Given the description of an element on the screen output the (x, y) to click on. 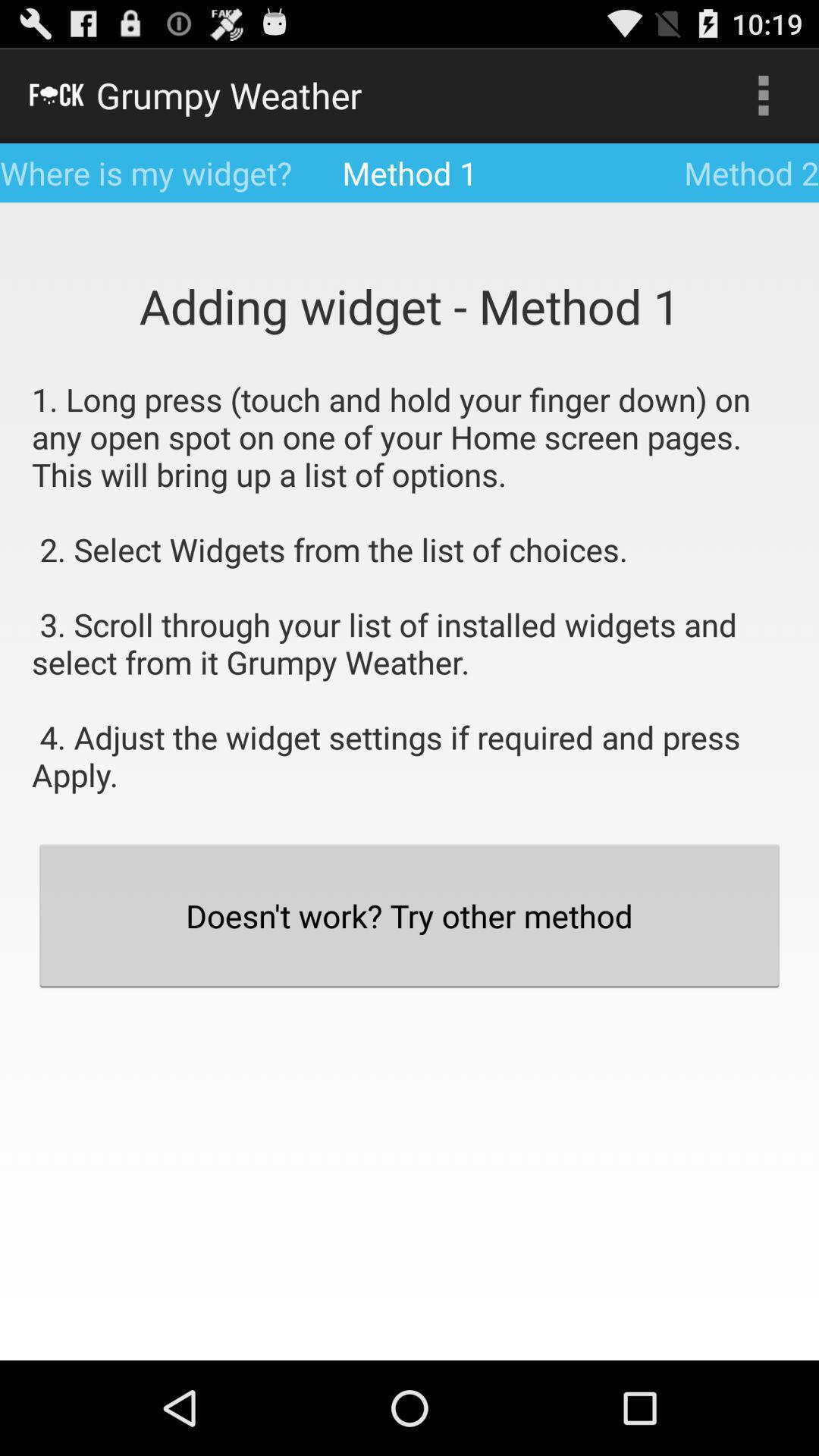
tap icon to the right of the method 1 icon (763, 95)
